Given the description of an element on the screen output the (x, y) to click on. 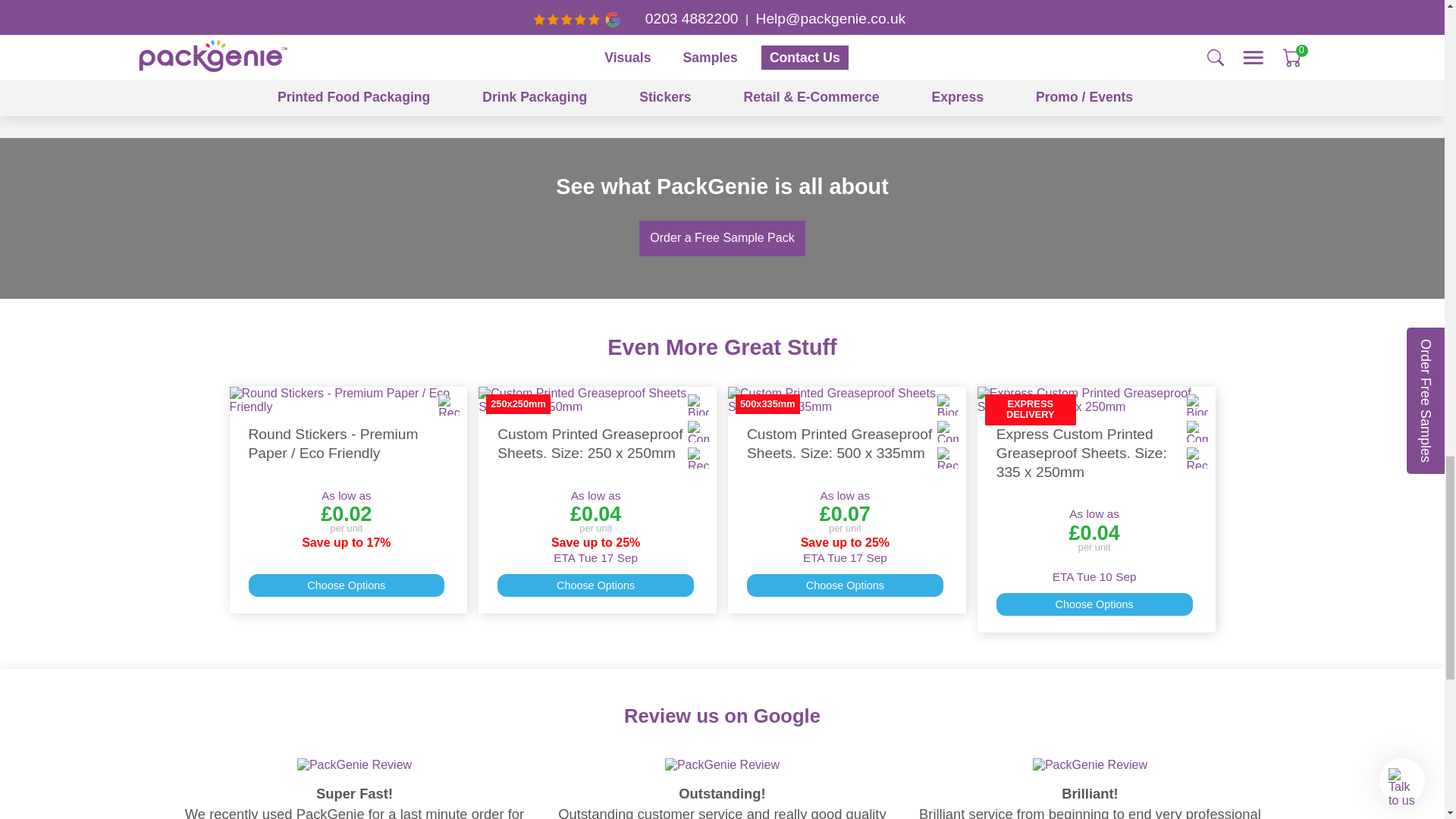
follow us on Instagram (729, 89)
follow us on Facebook (666, 89)
follow us on Twitter (697, 89)
